Given the description of an element on the screen output the (x, y) to click on. 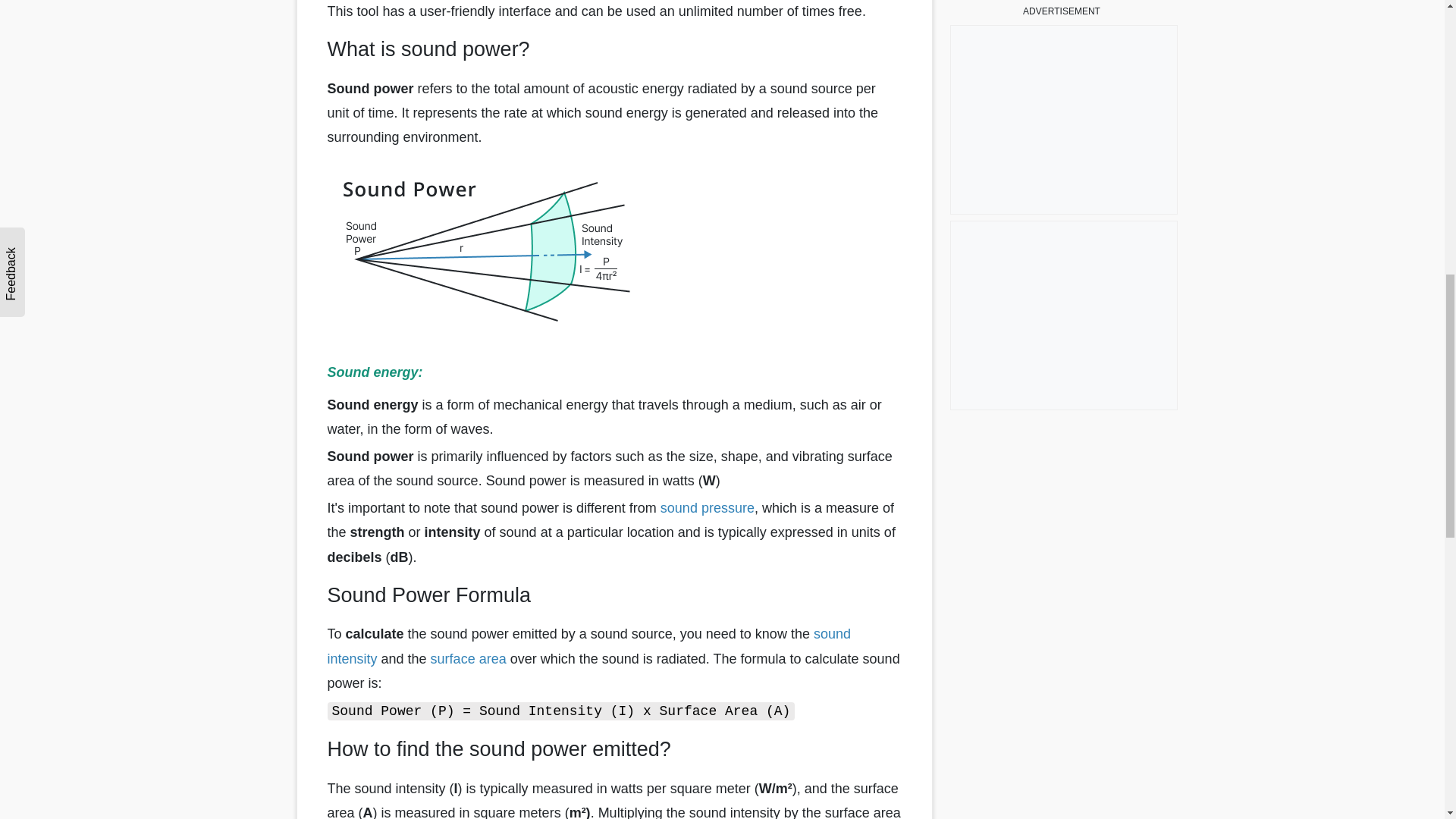
sound intensity (588, 645)
sound pressure (707, 507)
surface area (468, 658)
